Given the description of an element on the screen output the (x, y) to click on. 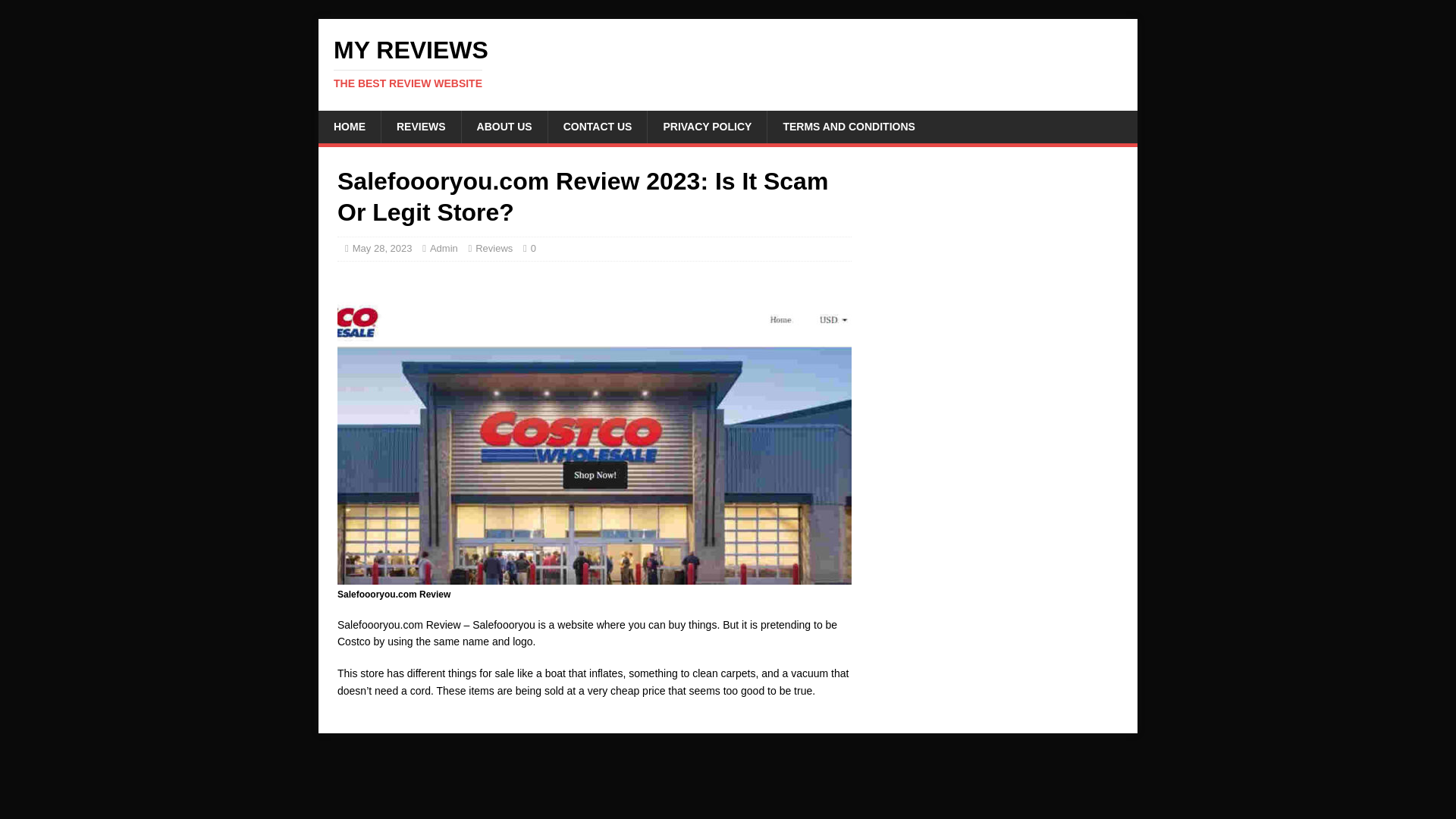
Admin (443, 247)
0 (533, 247)
May 28, 2023 (382, 247)
CONTACT US (597, 126)
TERMS AND CONDITIONS (848, 126)
Reviews (494, 247)
HOME (349, 126)
My Reviews (727, 63)
PRIVACY POLICY (706, 126)
0 (533, 247)
ABOUT US (727, 63)
Salefoooryou.com Review (504, 126)
